Given the description of an element on the screen output the (x, y) to click on. 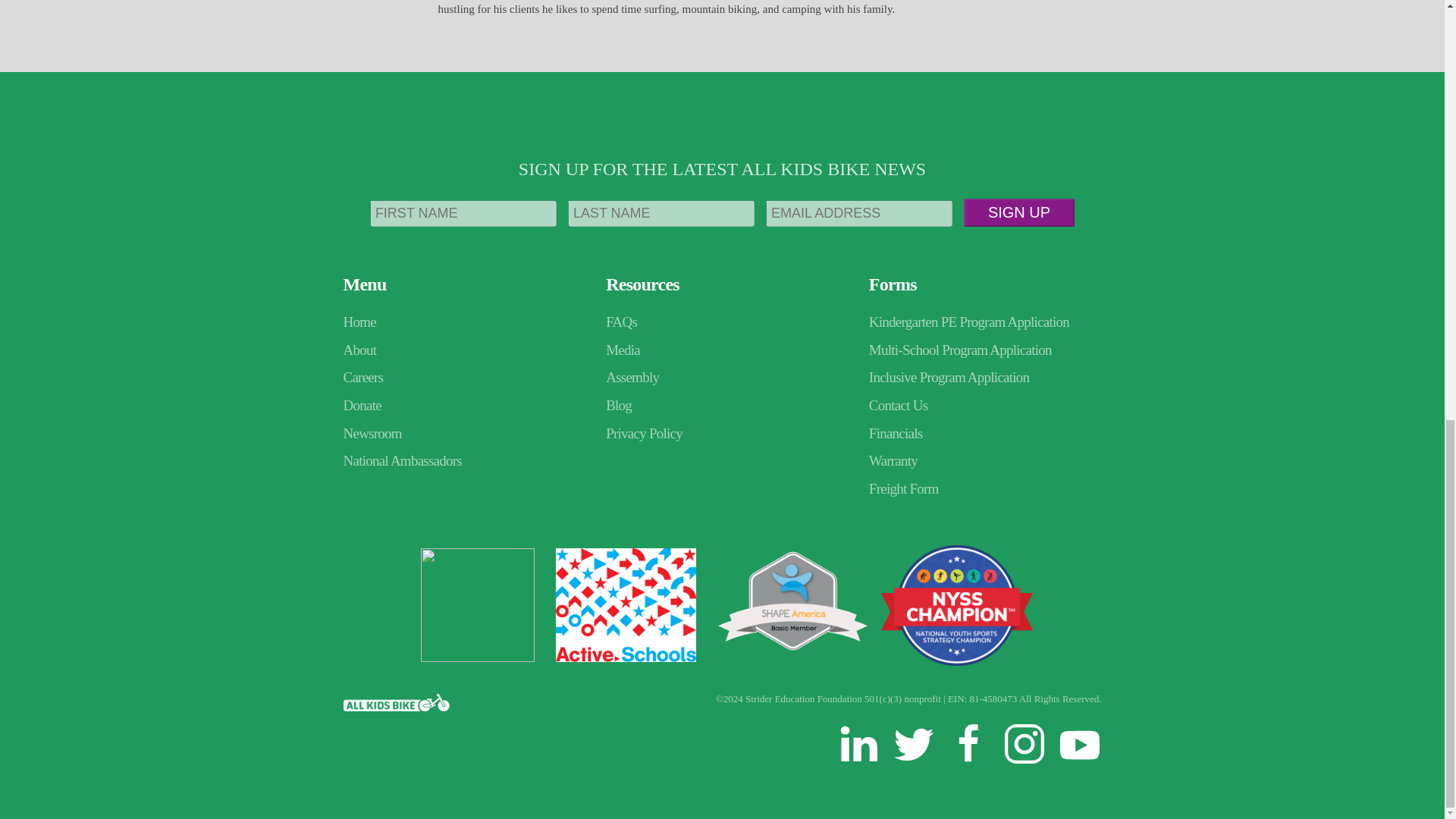
SIGN UP (1018, 212)
